Given the description of an element on the screen output the (x, y) to click on. 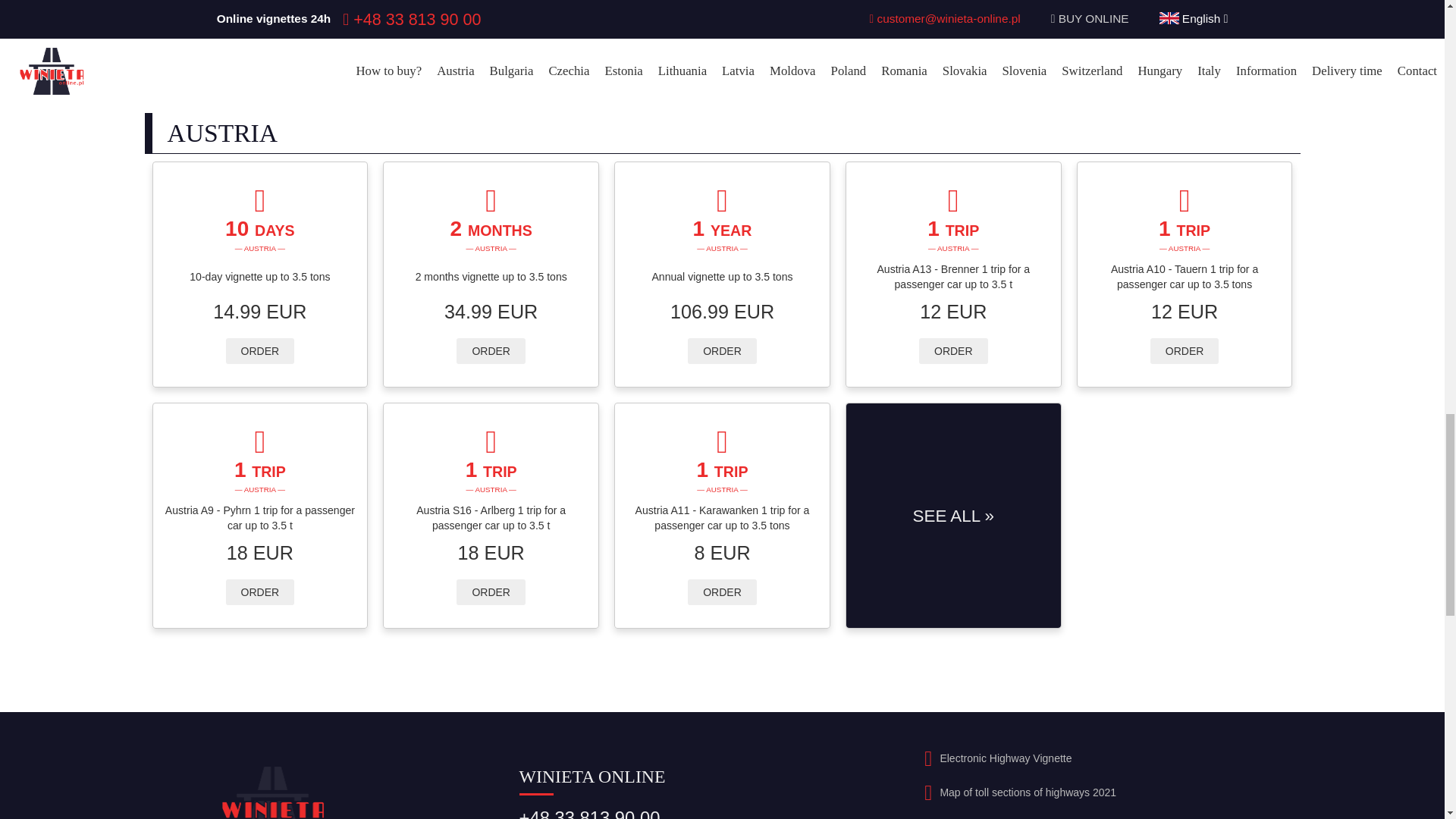
Electronic Highway Vignette (1005, 758)
